Given the description of an element on the screen output the (x, y) to click on. 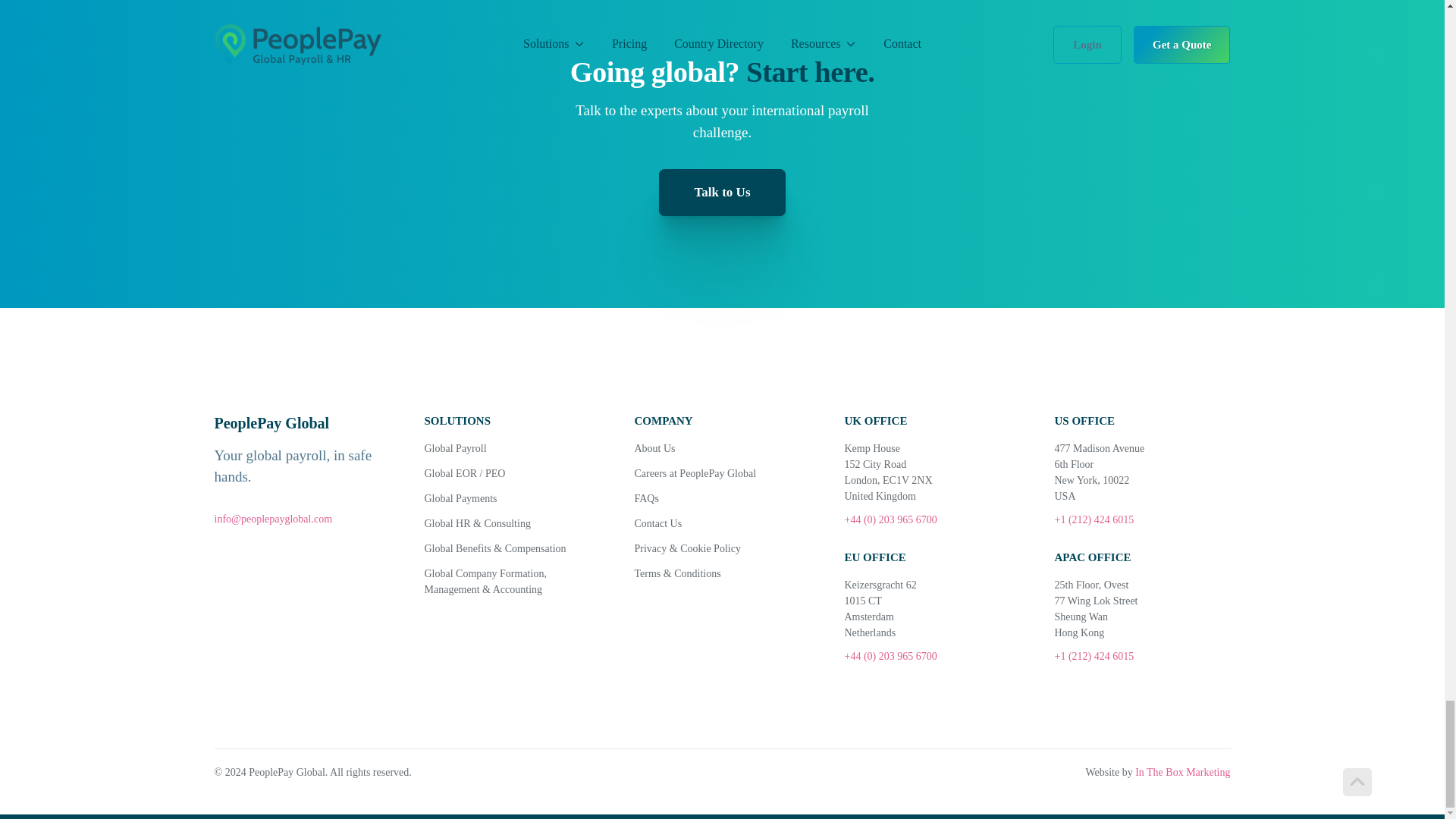
Talk to Us (721, 192)
Global Payments (512, 498)
Global Payroll (512, 448)
